Given the description of an element on the screen output the (x, y) to click on. 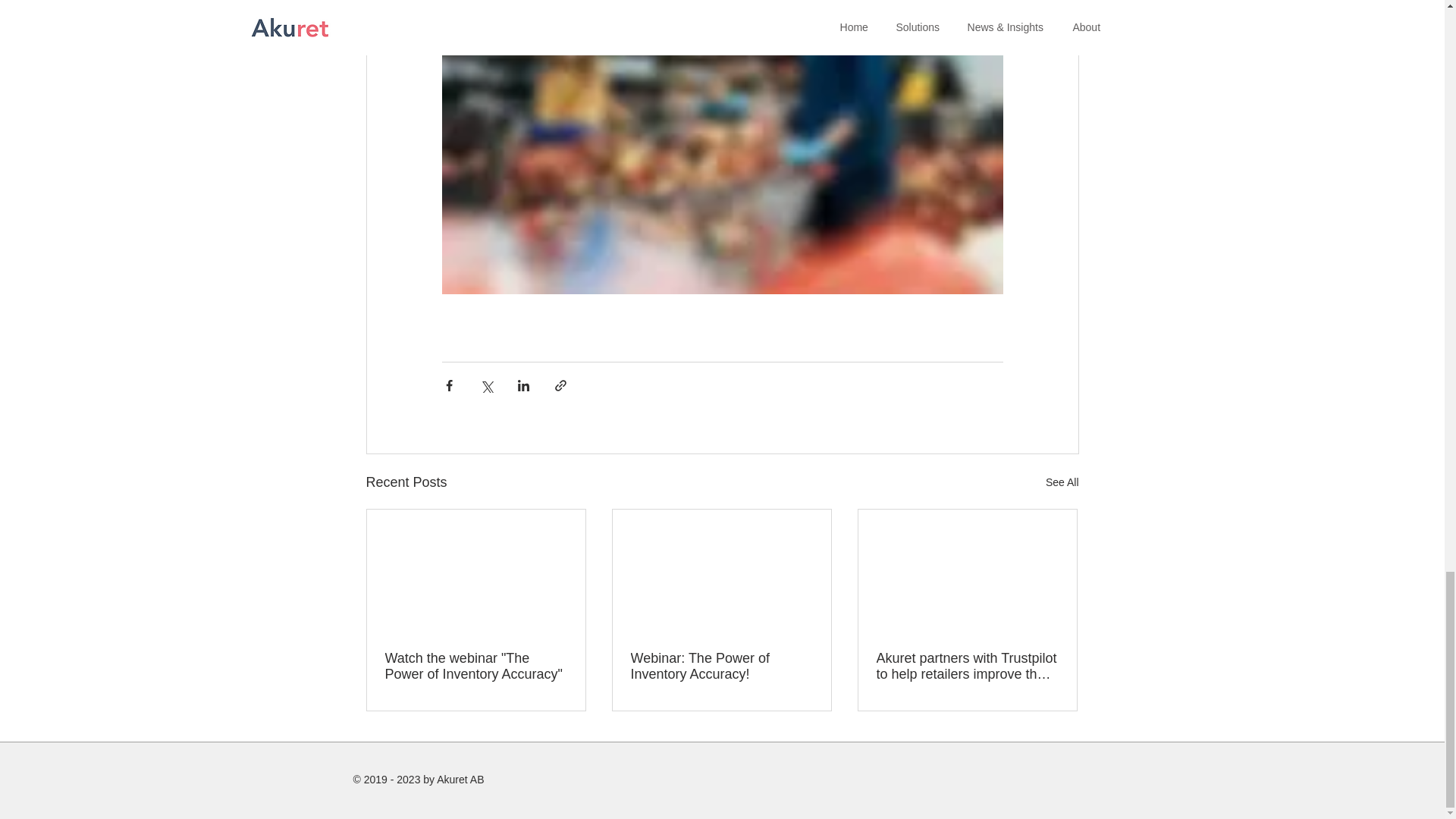
Webinar: The Power of Inventory Accuracy! (721, 666)
See All (1061, 482)
Watch the webinar "The Power of Inventory Accuracy" (476, 666)
